Given the description of an element on the screen output the (x, y) to click on. 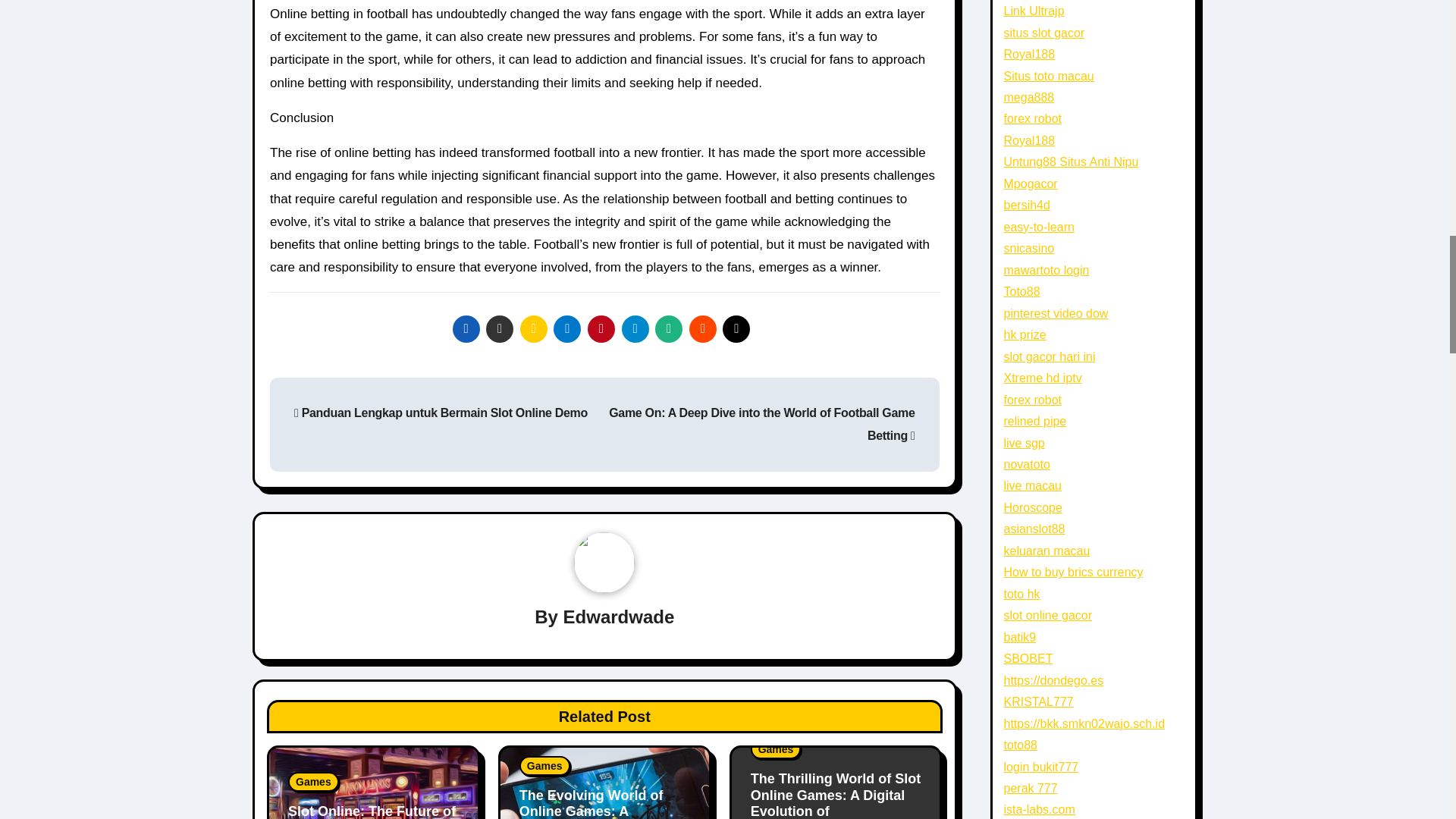
Panduan Lengkap untuk Bermain Slot Online Demo (441, 412)
Slot Online: The Future of Gaming Entertainment (371, 811)
Edwardwade (619, 616)
Game On: A Deep Dive into the World of Football Game Betting (761, 424)
Games (313, 781)
